Given the description of an element on the screen output the (x, y) to click on. 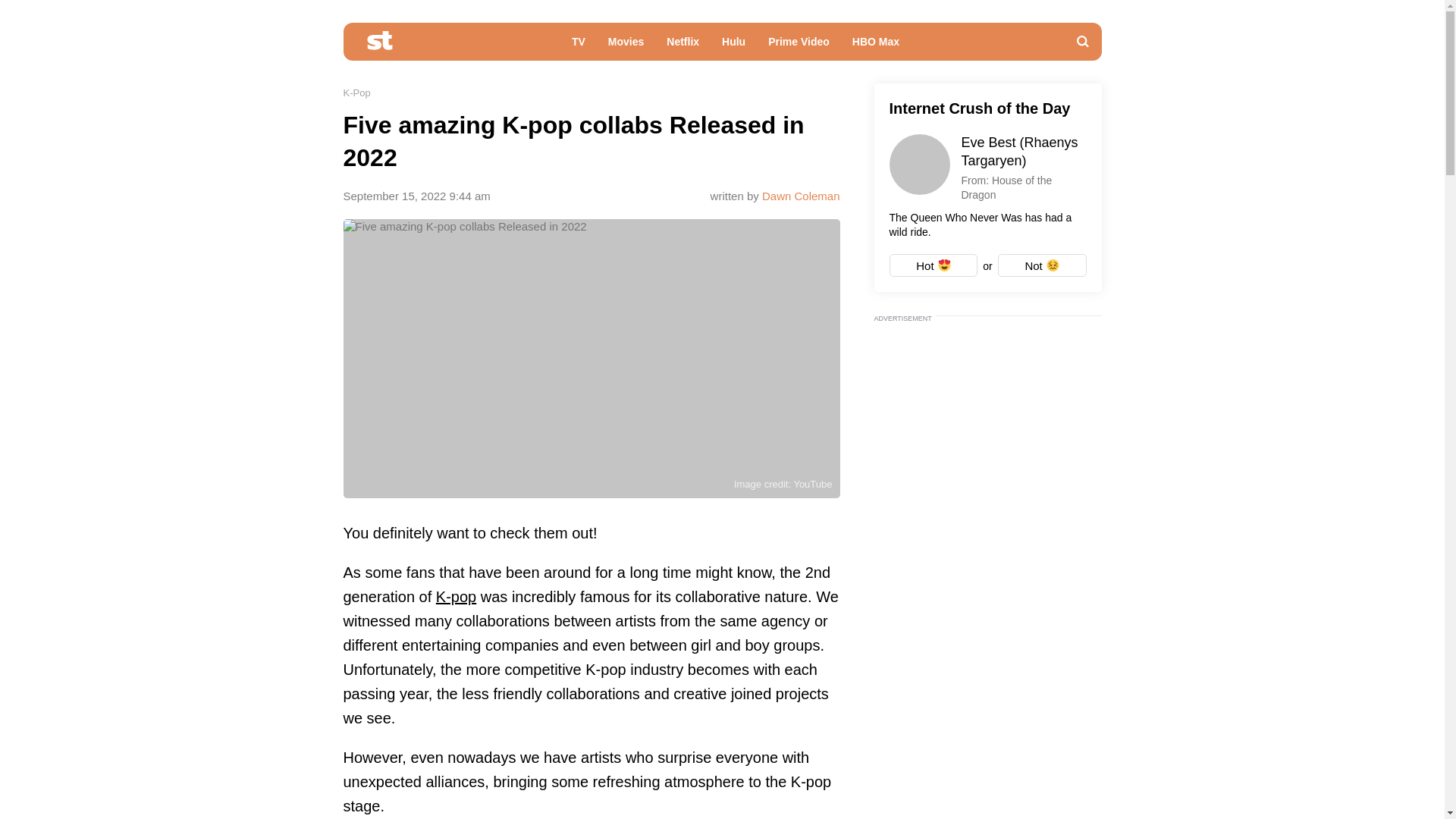
Netflix (682, 46)
TV (578, 46)
Not (1041, 264)
Prime Video (799, 46)
K-Pop (355, 92)
K-pop (455, 596)
Hulu (733, 46)
Hot (932, 264)
Movies (625, 46)
Dawn Coleman (800, 195)
HBO Max (876, 46)
